Given the description of an element on the screen output the (x, y) to click on. 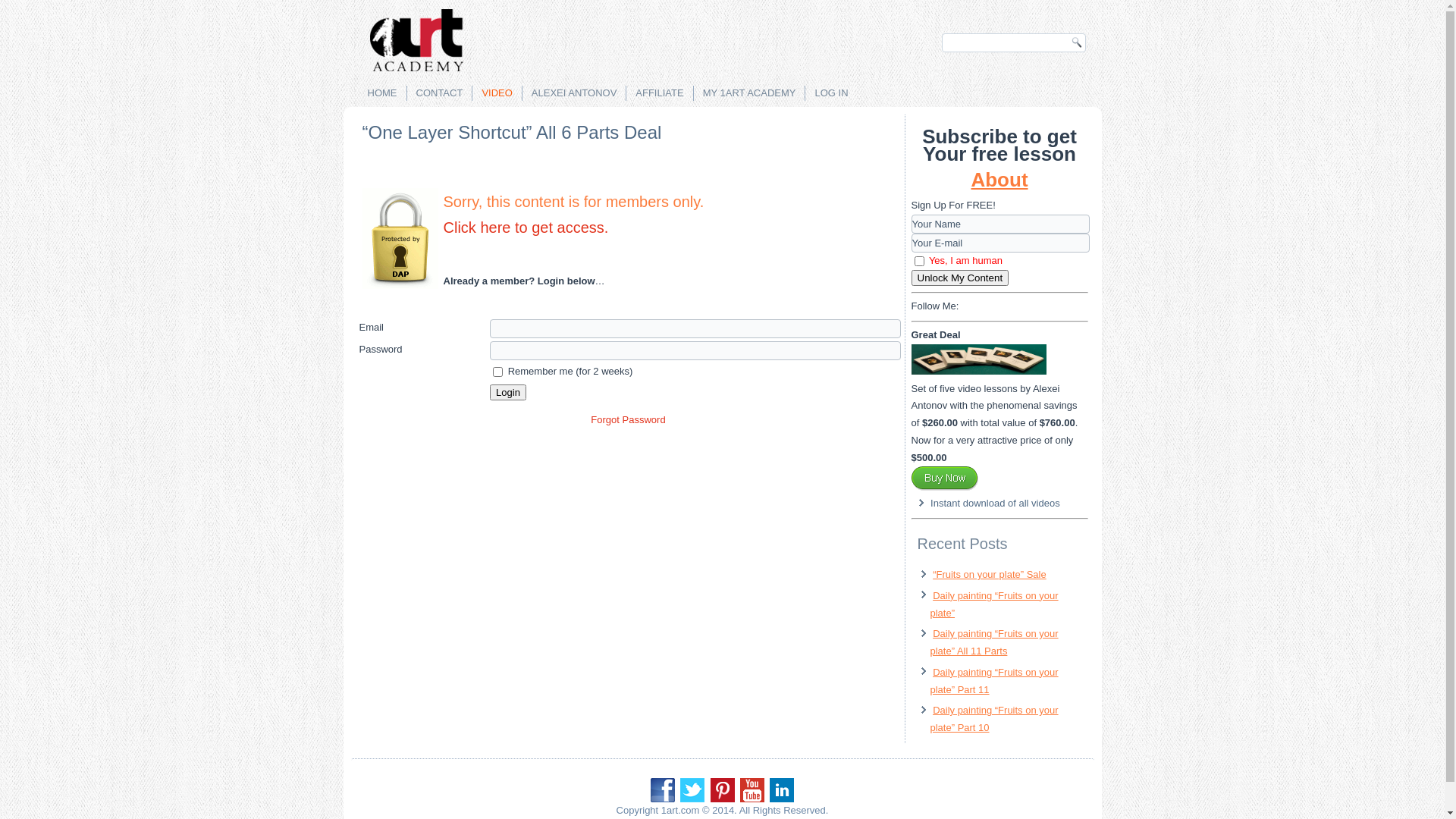
Click here to get access. Element type: text (525, 227)
Forgot Password Element type: text (627, 419)
MY 1ART ACADEMY Element type: text (749, 93)
Unlock My Content Element type: text (960, 277)
LOG IN Element type: text (830, 93)
Login Element type: text (507, 392)
About Element type: text (998, 179)
ALEXEI ANTONOV Element type: text (573, 93)
AFFILIATE Element type: text (659, 93)
VIDEO Element type: text (496, 93)
CONTACT Element type: text (438, 93)
HOME Element type: text (381, 93)
